Given the description of an element on the screen output the (x, y) to click on. 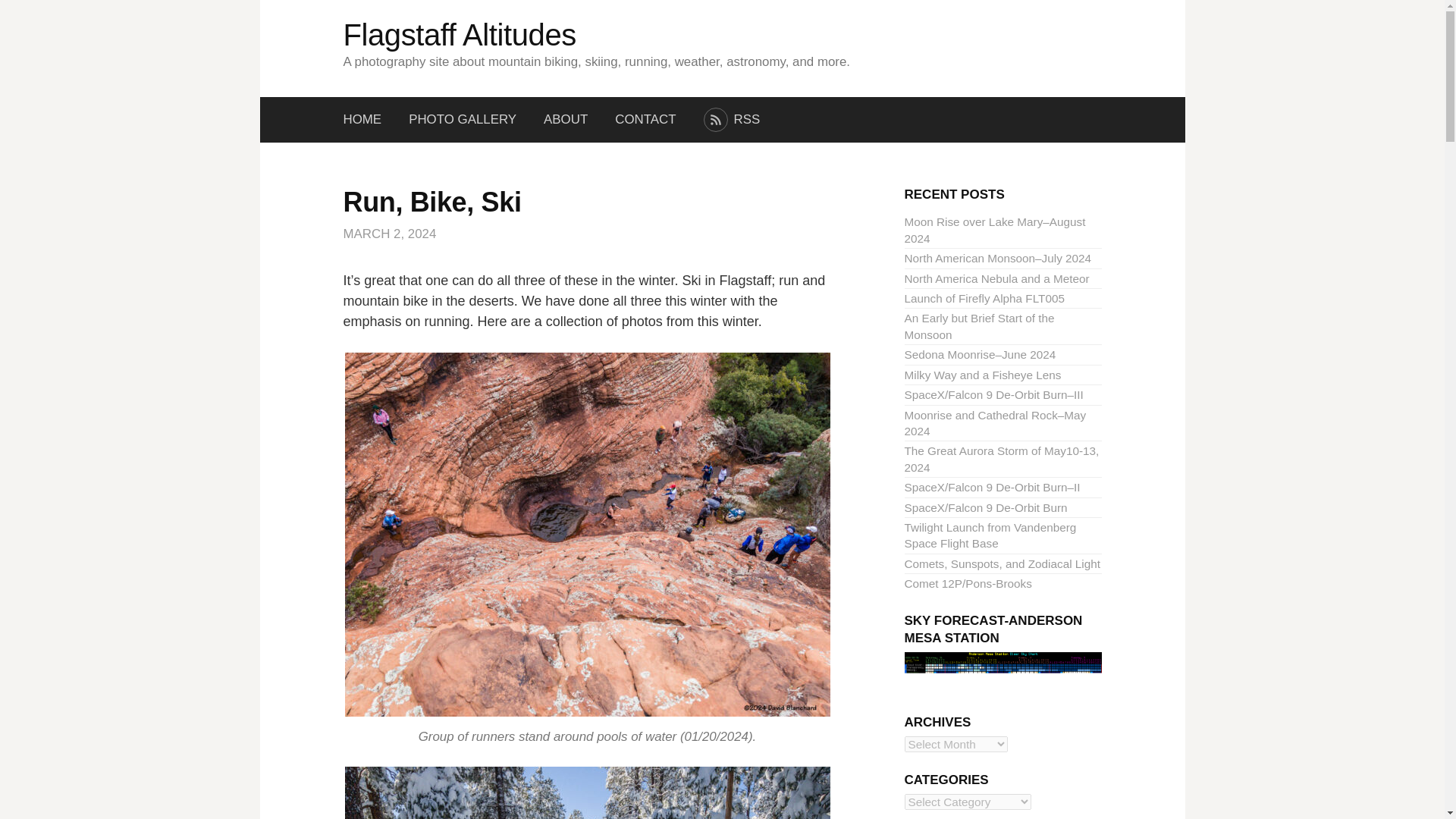
Flagstaff Altitudes (458, 34)
ABOUT (565, 119)
RSS (732, 119)
North America Nebula and a Meteor (996, 278)
PHOTO GALLERY (461, 119)
Launch of Firefly Alpha FLT005 (984, 297)
HOME (368, 119)
An Early but Brief Start of the Monsoon (979, 326)
MARCH 2, 2024 (388, 233)
CONTACT (644, 119)
